Given the description of an element on the screen output the (x, y) to click on. 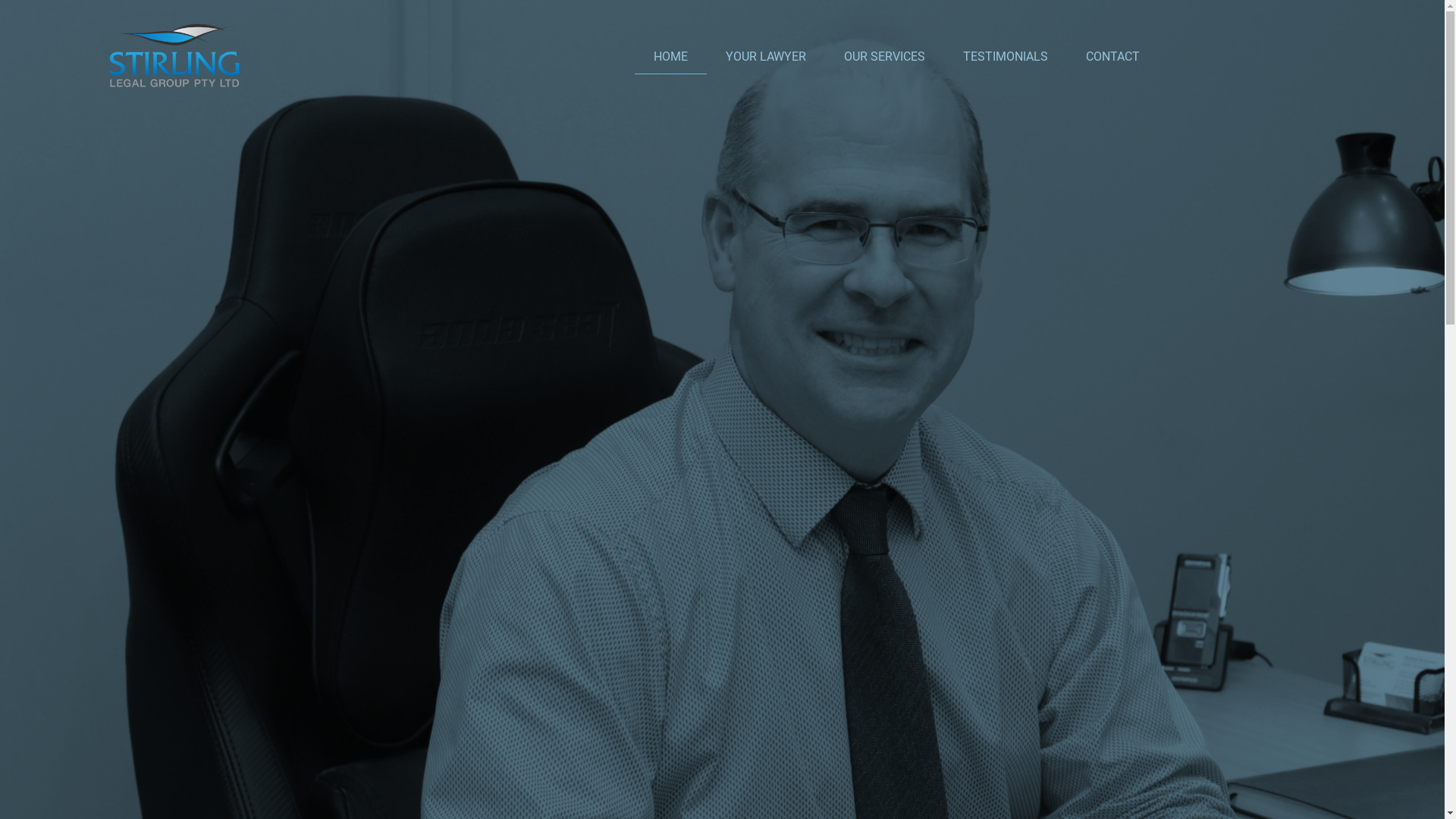
CONTACT Element type: text (1112, 56)
HOME Element type: text (670, 56)
OUR SERVICES Element type: text (884, 56)
YOUR LAWYER Element type: text (765, 56)
TESTIMONIALS Element type: text (1005, 56)
